Given the description of an element on the screen output the (x, y) to click on. 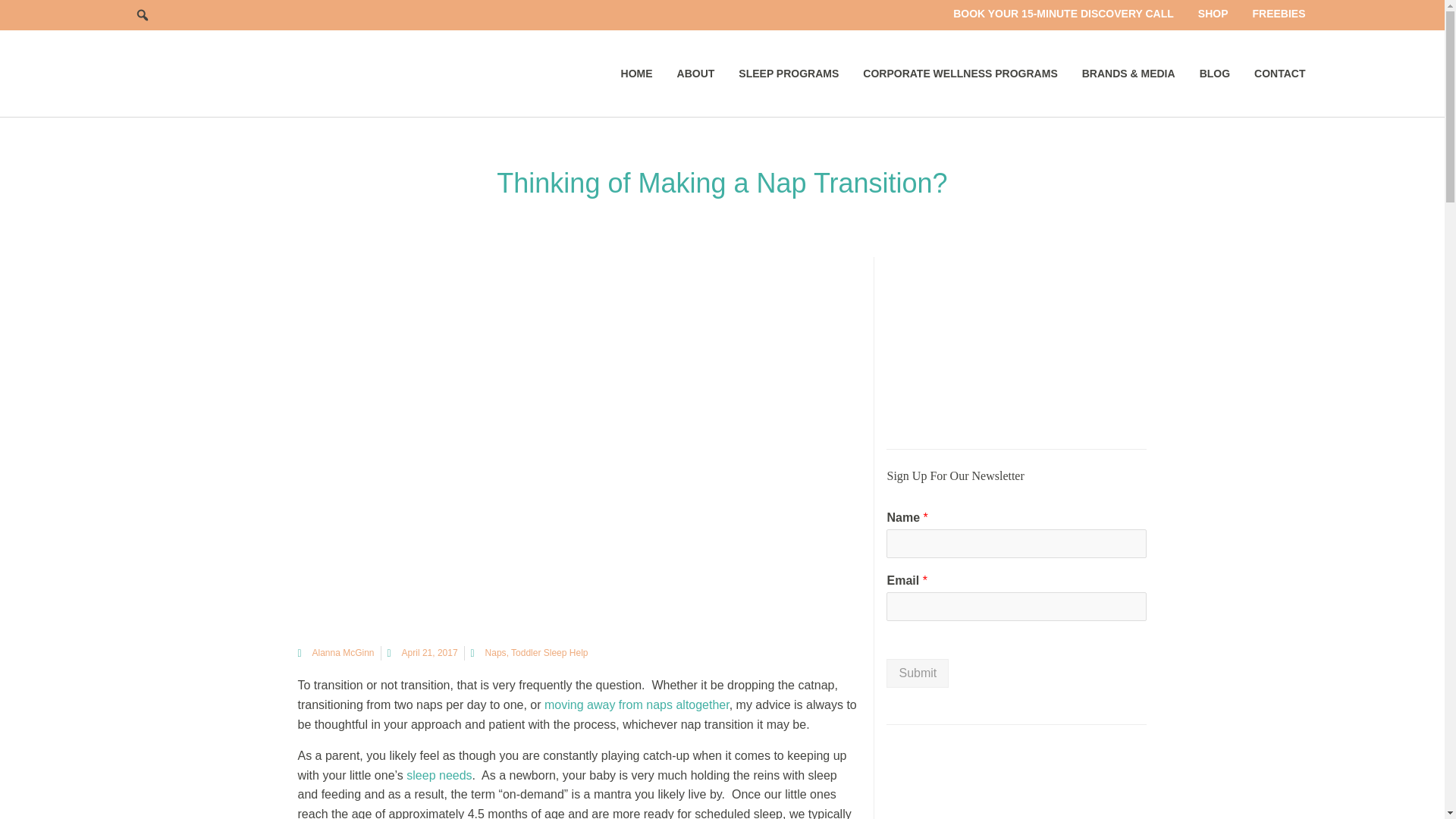
HOME (636, 72)
FREEBIES (1278, 13)
SHOP (1213, 13)
ABOUT (695, 72)
SLEEP PROGRAMS (788, 72)
BOOK YOUR 15-MINUTE DISCOVERY CALL (1063, 13)
Search (142, 15)
